Given the description of an element on the screen output the (x, y) to click on. 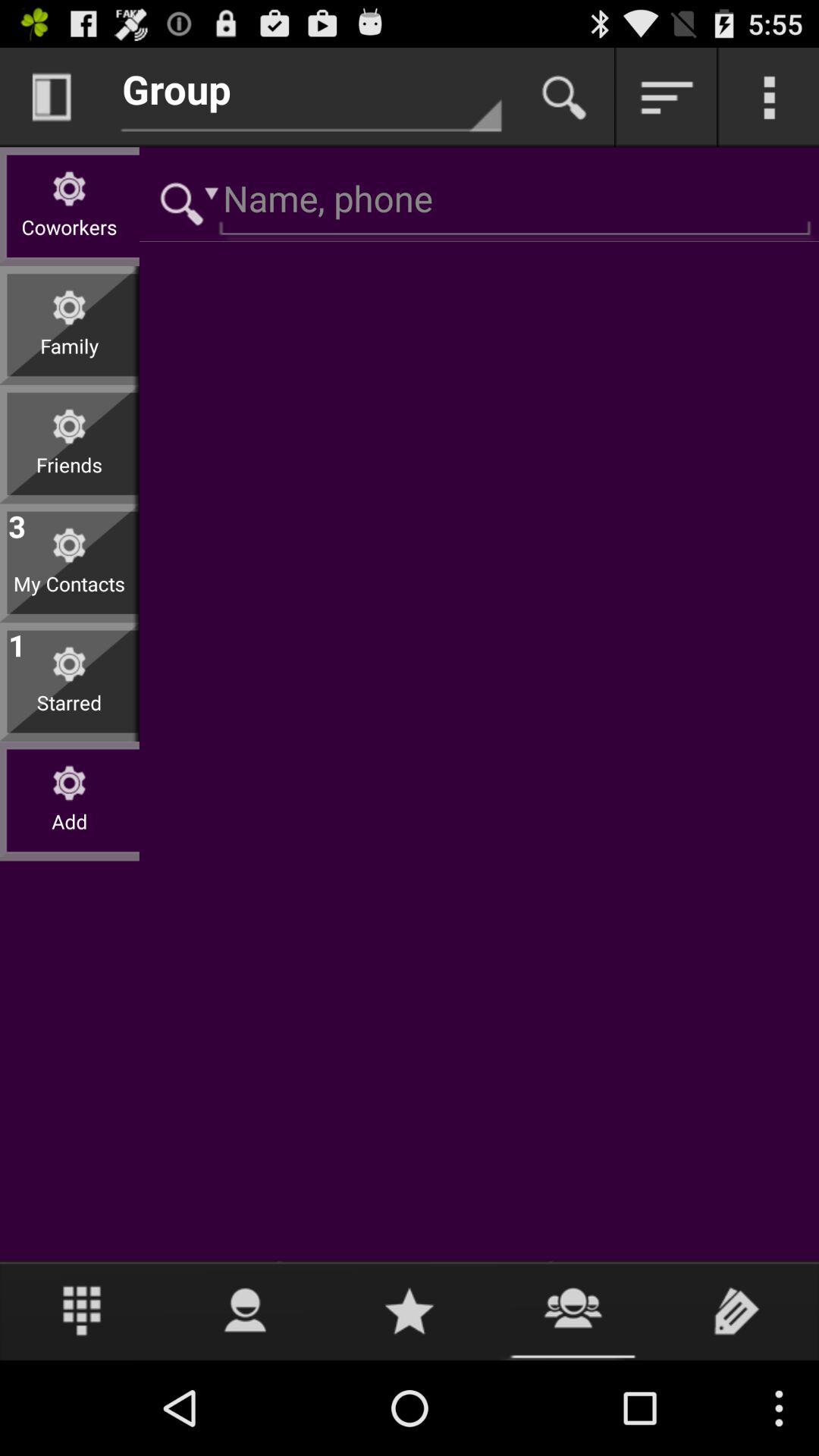
favorites icon (409, 1310)
